Given the description of an element on the screen output the (x, y) to click on. 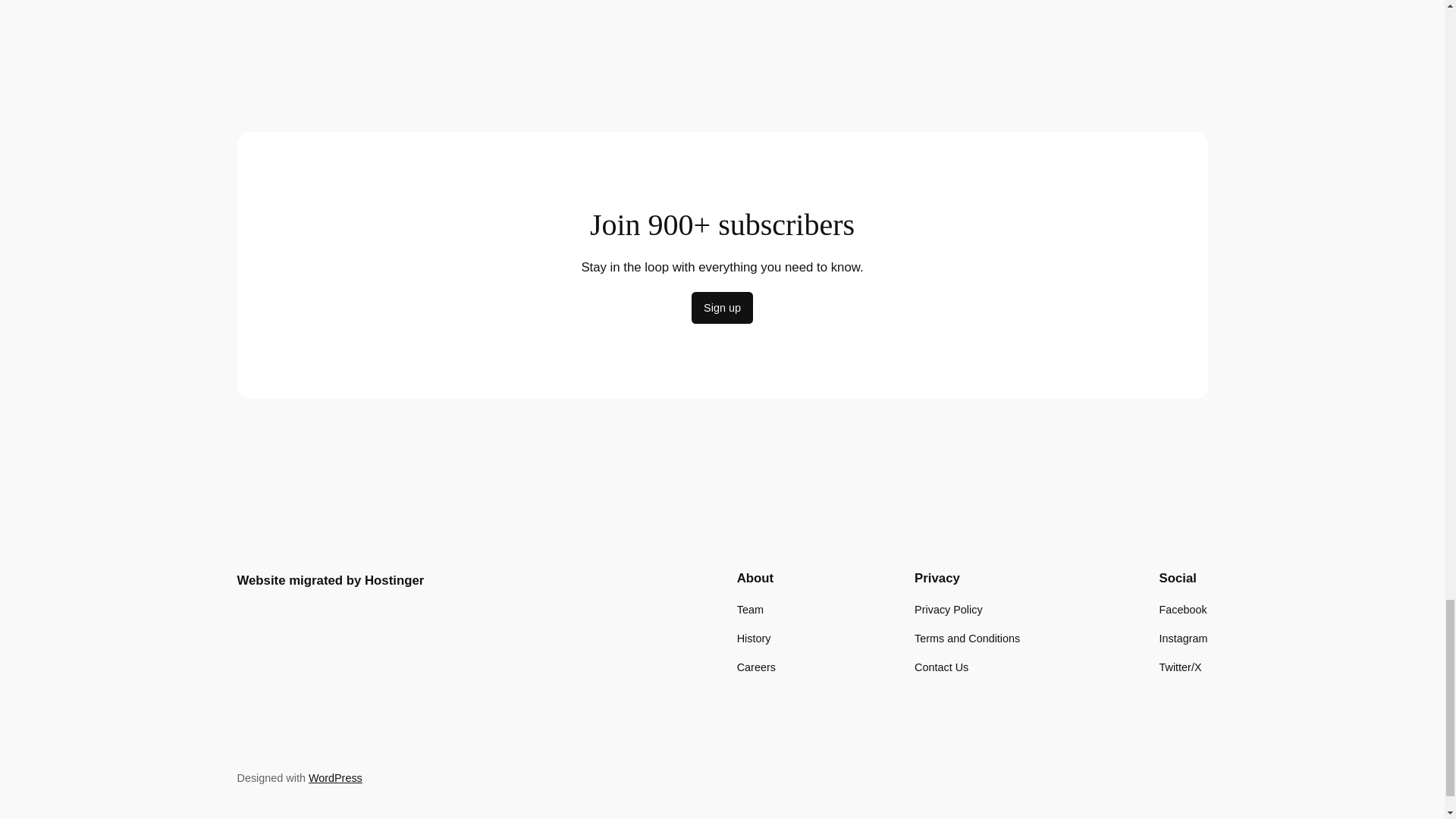
WordPress (335, 777)
Facebook (1182, 609)
Careers (756, 667)
Terms and Conditions (967, 638)
Website migrated by Hostinger (329, 580)
History (753, 638)
Privacy Policy (948, 609)
Sign up (721, 307)
Team (749, 609)
Contact Us (941, 667)
